Given the description of an element on the screen output the (x, y) to click on. 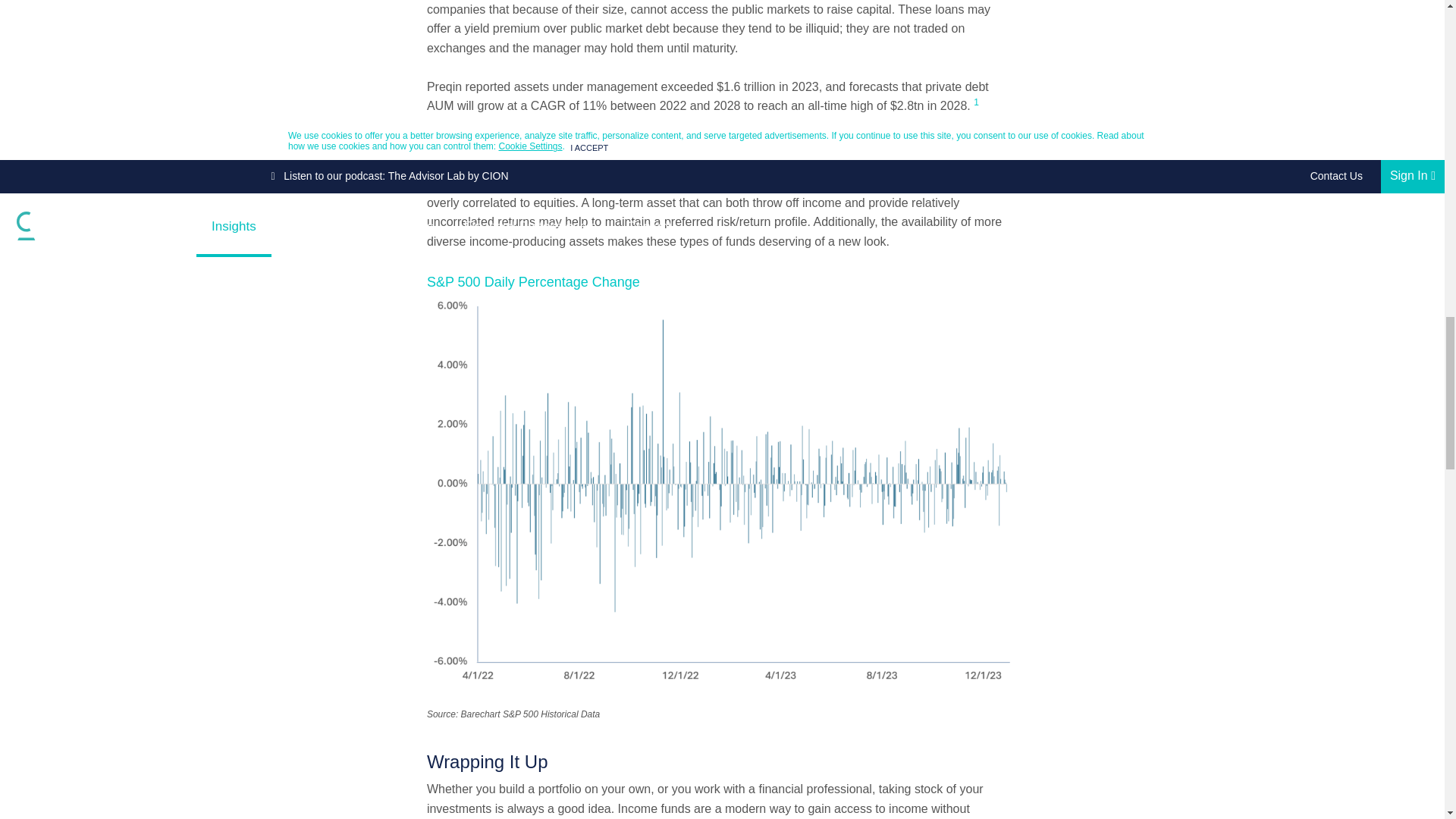
Page 2 (721, 96)
Page 2 (721, 211)
Page 2 (721, 29)
1 (976, 102)
Page 2 (721, 799)
